Given the description of an element on the screen output the (x, y) to click on. 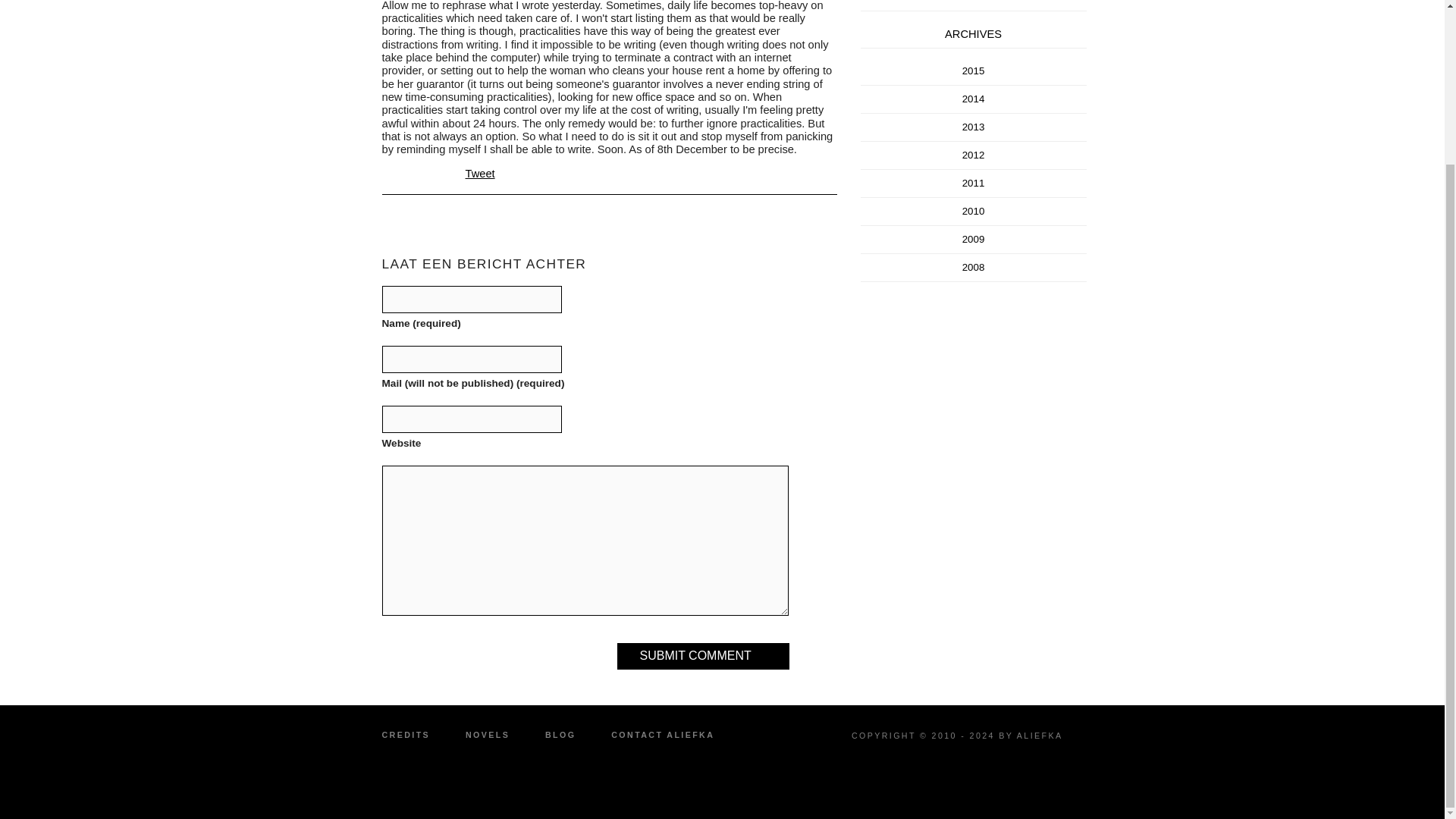
2013 (973, 126)
2015 (973, 70)
All entries (972, 1)
2014 (973, 98)
Year 2014 archives (973, 98)
Tweet (480, 173)
Year 2012 archives (973, 154)
Year 2015 archives (973, 70)
Year 2009 archives (973, 238)
Year 2011 archives (973, 183)
SUBMIT COMMENT (703, 655)
Year 2010 archives (973, 211)
Year 2008 archives (973, 266)
Year 2013 archives (973, 126)
